Given the description of an element on the screen output the (x, y) to click on. 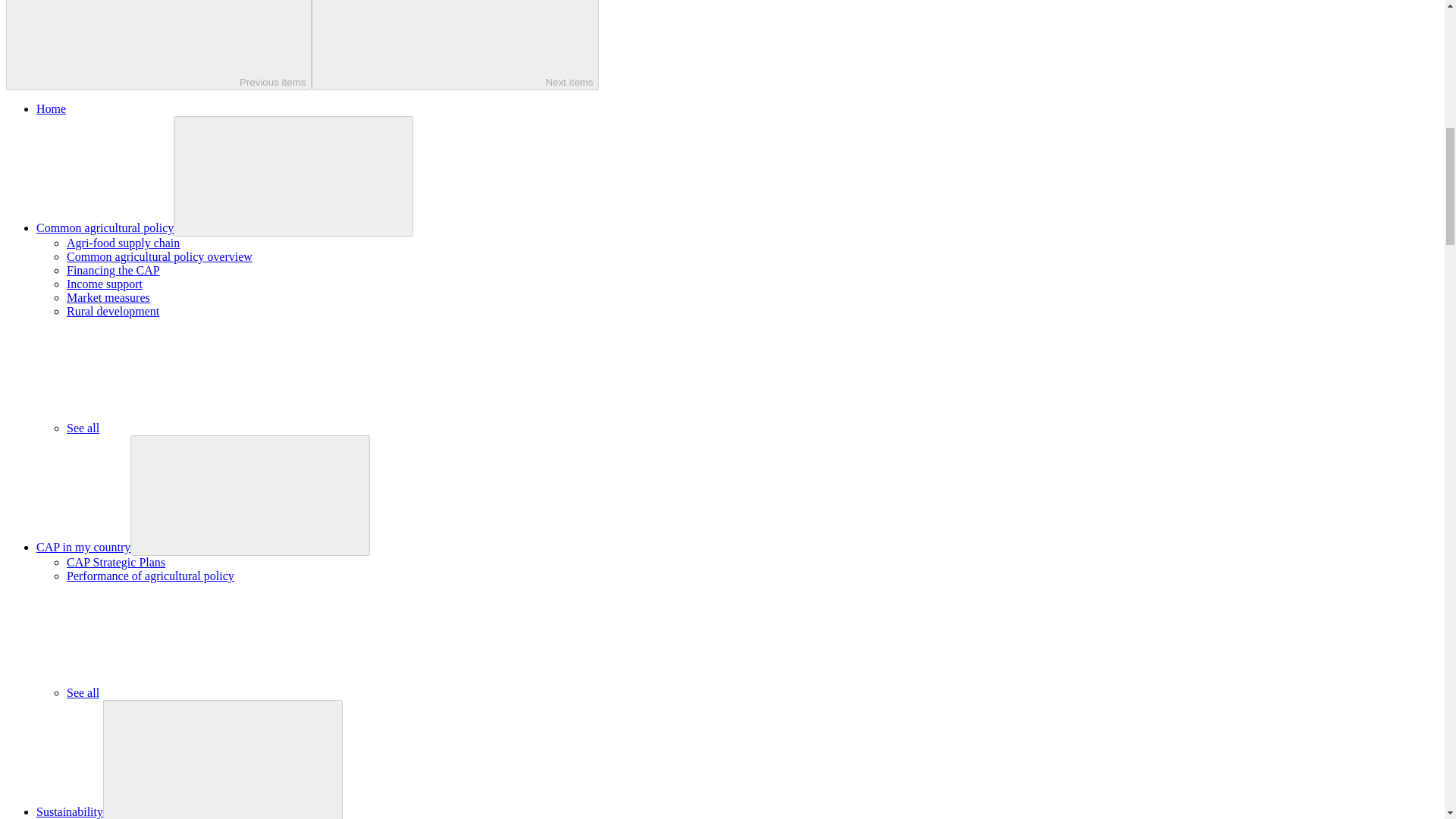
Performance of agricultural policy (150, 575)
Previous items (158, 45)
CAP Strategic Plans (115, 562)
Common agricultural policy overview (158, 256)
See all (196, 692)
Next items (454, 45)
See all (196, 427)
Financing the CAP (113, 269)
CAP in my country (83, 546)
Common agricultural policy (104, 227)
Agri-food supply chain (122, 242)
Home (50, 108)
Rural development (112, 310)
Market measures (107, 297)
Sustainability (69, 811)
